Given the description of an element on the screen output the (x, y) to click on. 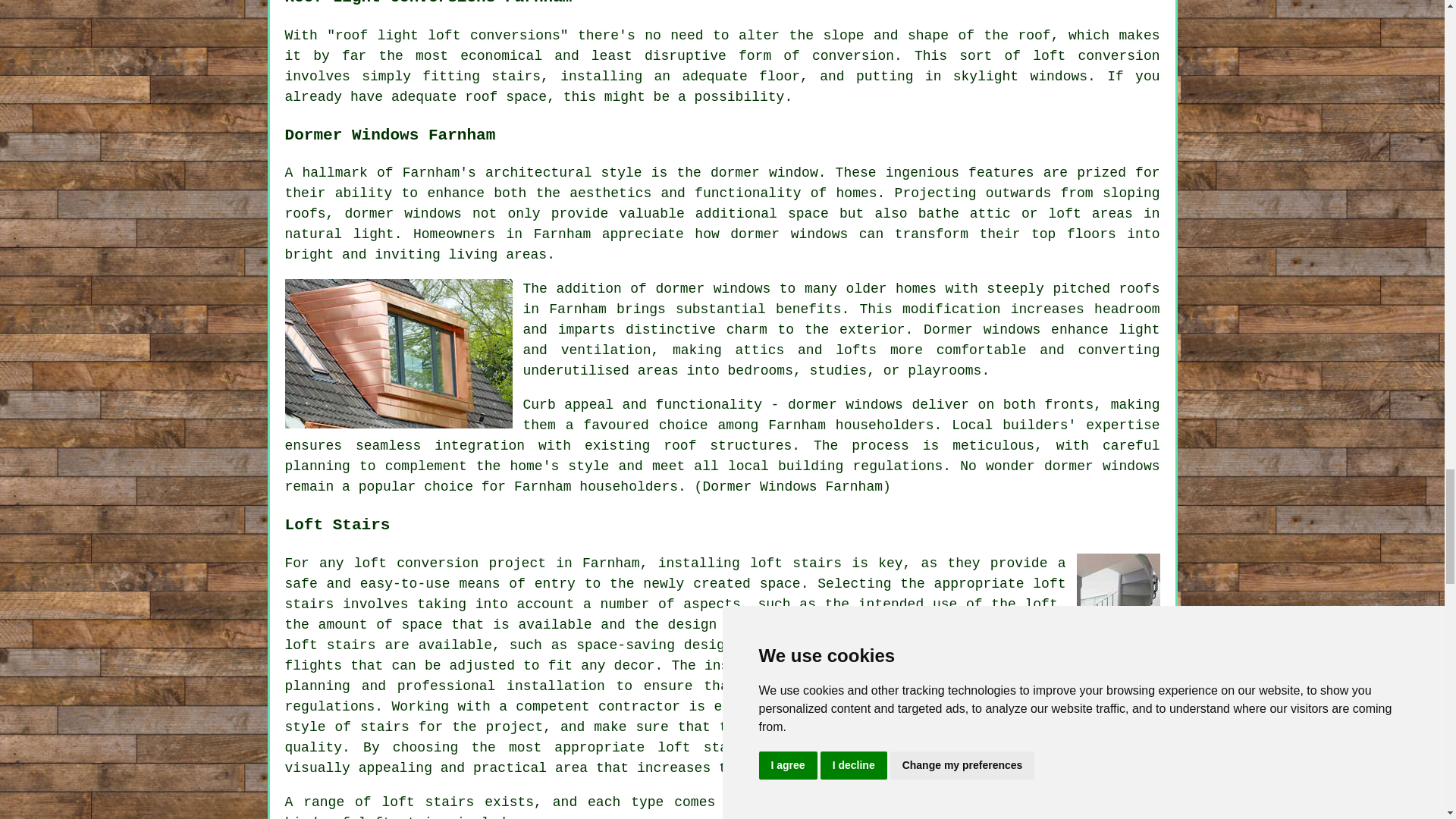
loft stairs (330, 645)
Dormer Windows Farnham (398, 353)
